Given the description of an element on the screen output the (x, y) to click on. 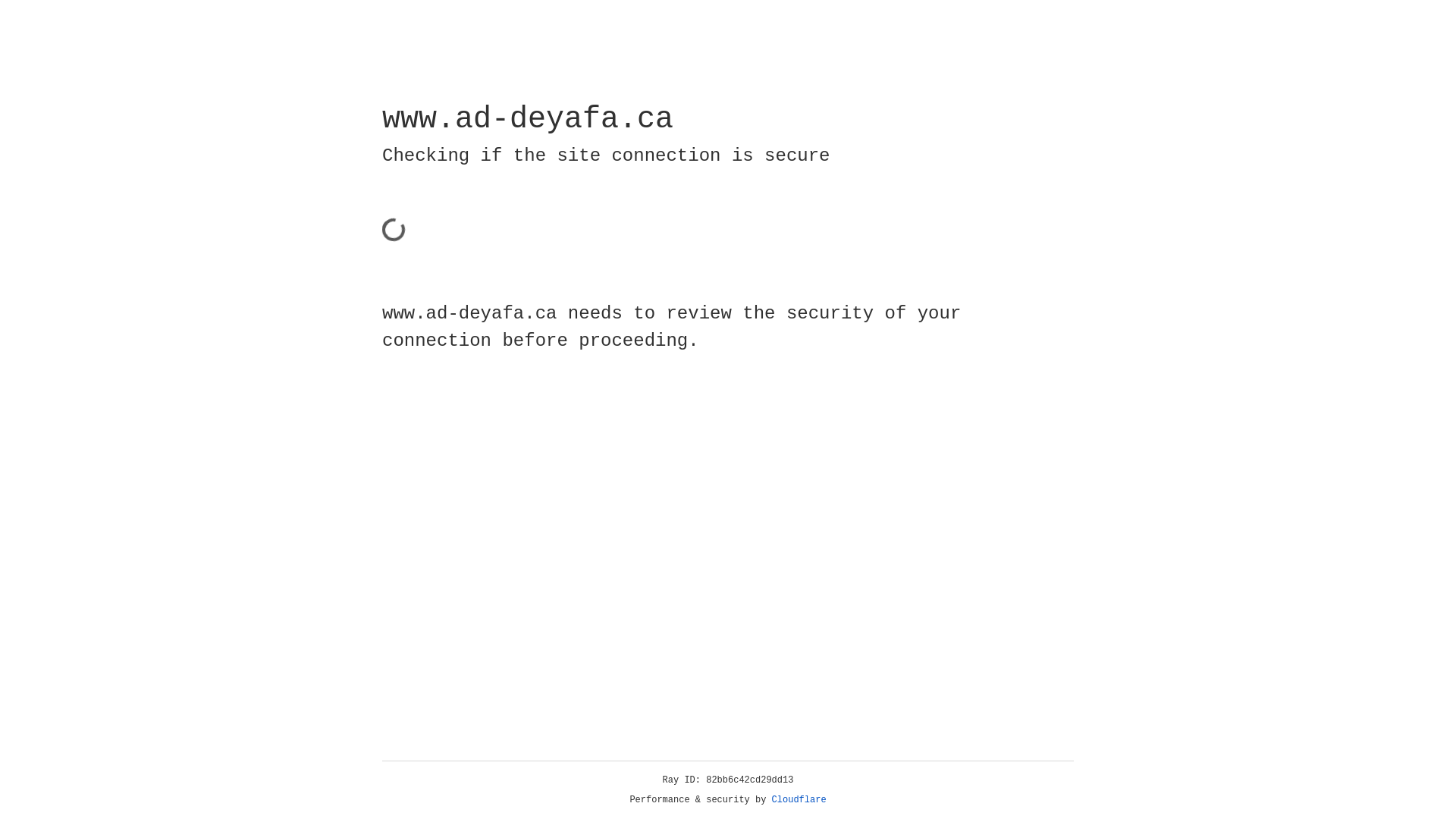
Cloudflare Element type: text (798, 799)
